Given the description of an element on the screen output the (x, y) to click on. 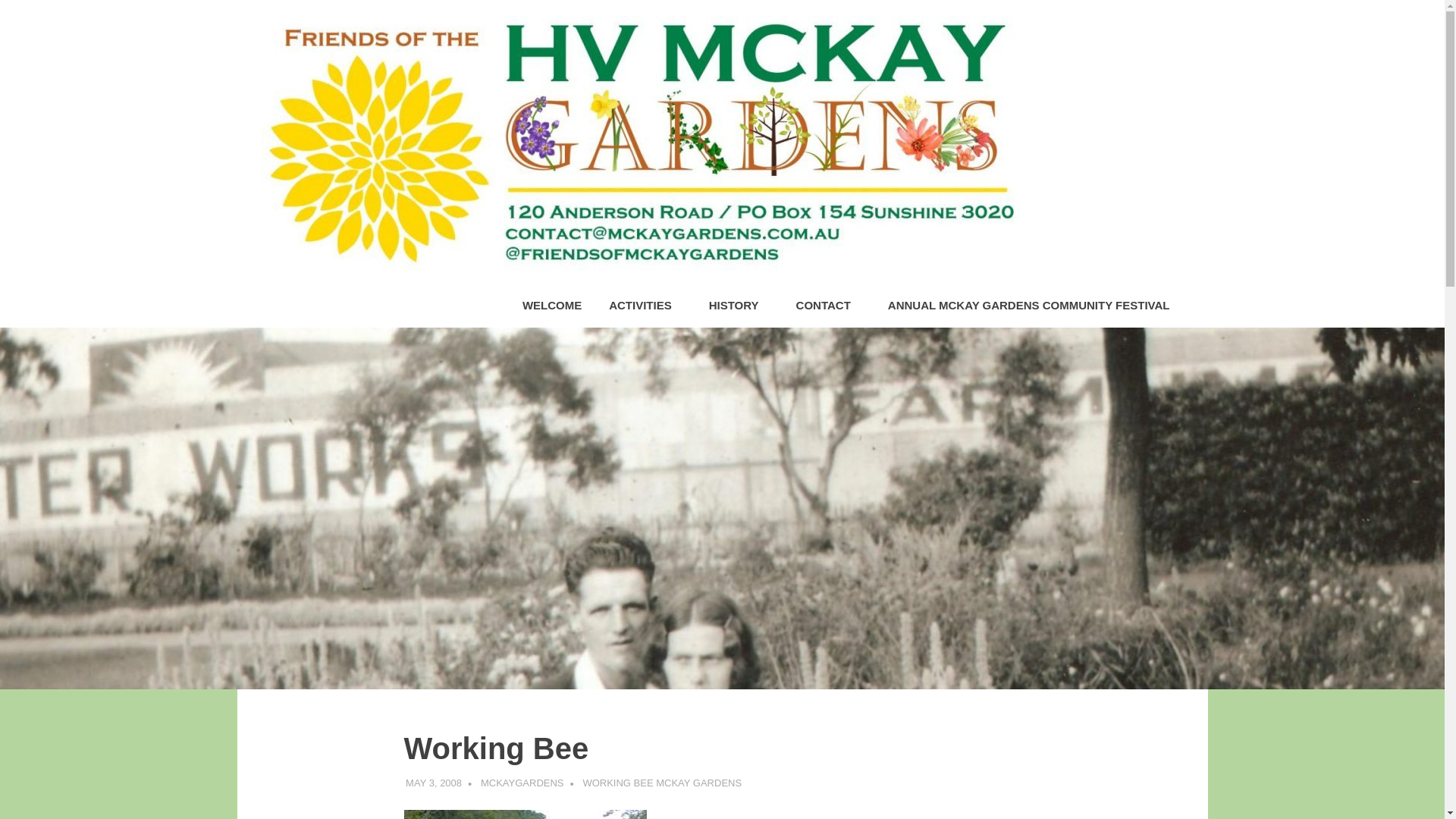
ANNUAL MCKAY GARDENS COMMUNITY FESTIVAL (1029, 305)
7:47 am (433, 782)
ACTIVITIES (645, 305)
MAY 3, 2008 (433, 782)
WORKING BEE MCKAY GARDENS (661, 782)
MCKAYGARDENS (522, 782)
View all posts by mckaygardens (522, 782)
HISTORY (739, 305)
WELCOME (551, 305)
CONTACT (829, 305)
